Given the description of an element on the screen output the (x, y) to click on. 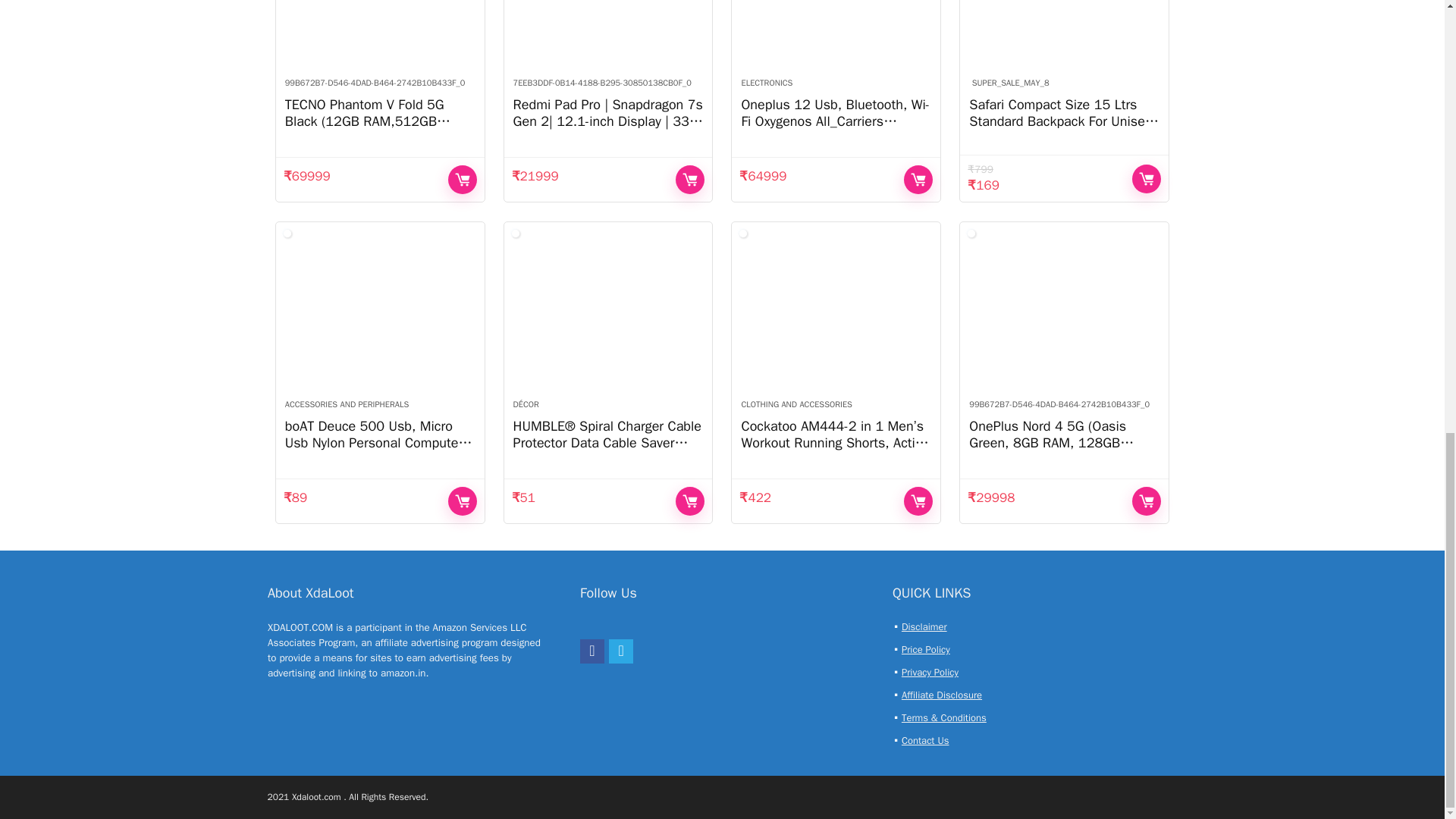
SHOP NOW AT AMAZON.IN (918, 179)
SHOP NOW AT AMAZON.IN (462, 179)
SHOP NOW AT AMAZON.IN (689, 179)
ELECTRONICS (766, 81)
